Given the description of an element on the screen output the (x, y) to click on. 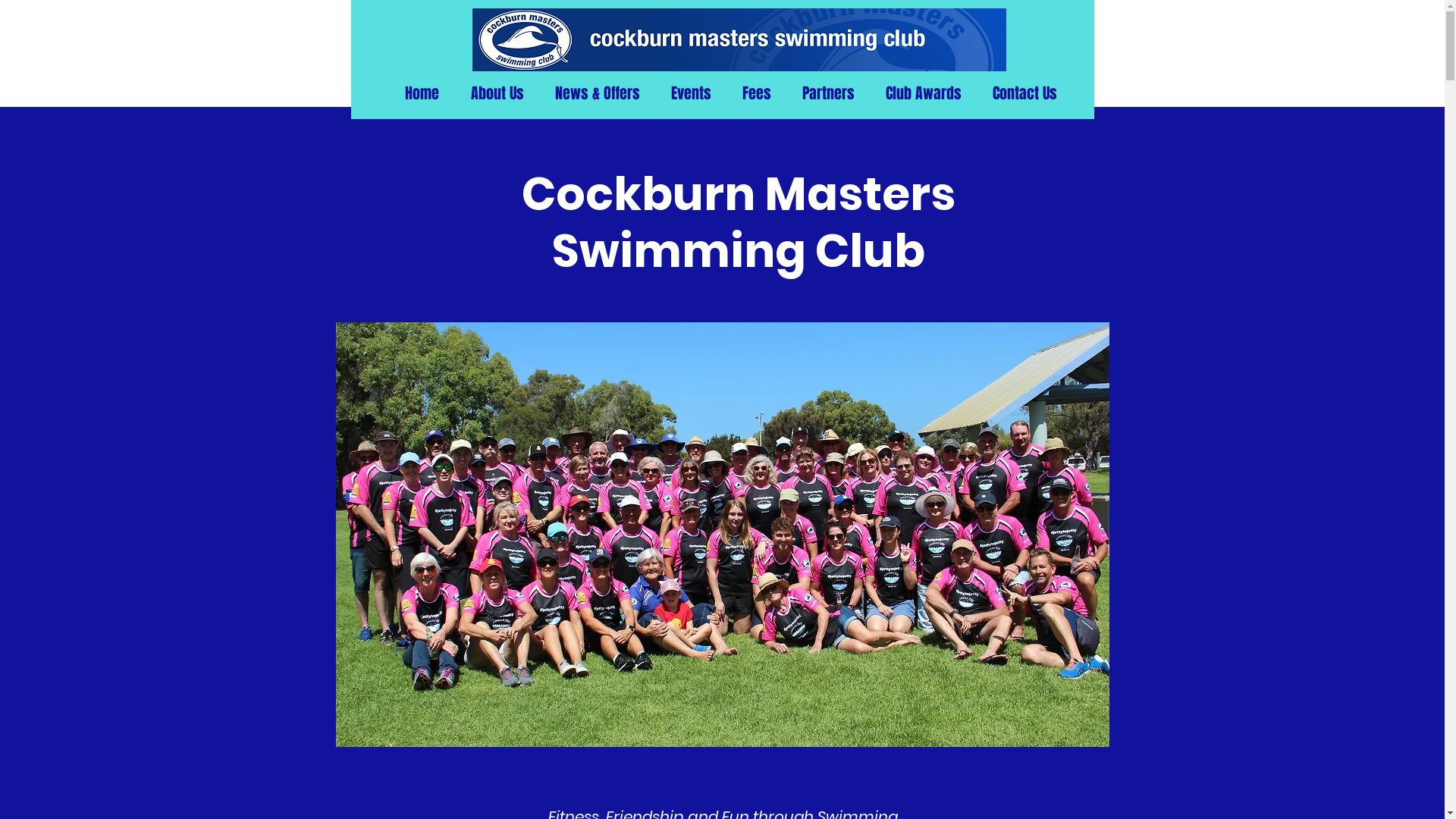
Events Element type: text (690, 93)
Home Element type: text (421, 93)
Partners Element type: text (828, 93)
Fees Element type: text (756, 93)
About Us Element type: text (497, 93)
Club Awards Element type: text (923, 93)
News & Offers Element type: text (597, 93)
Clubbies.jpg Element type: hover (721, 534)
Contact Us Element type: text (1024, 93)
